Given the description of an element on the screen output the (x, y) to click on. 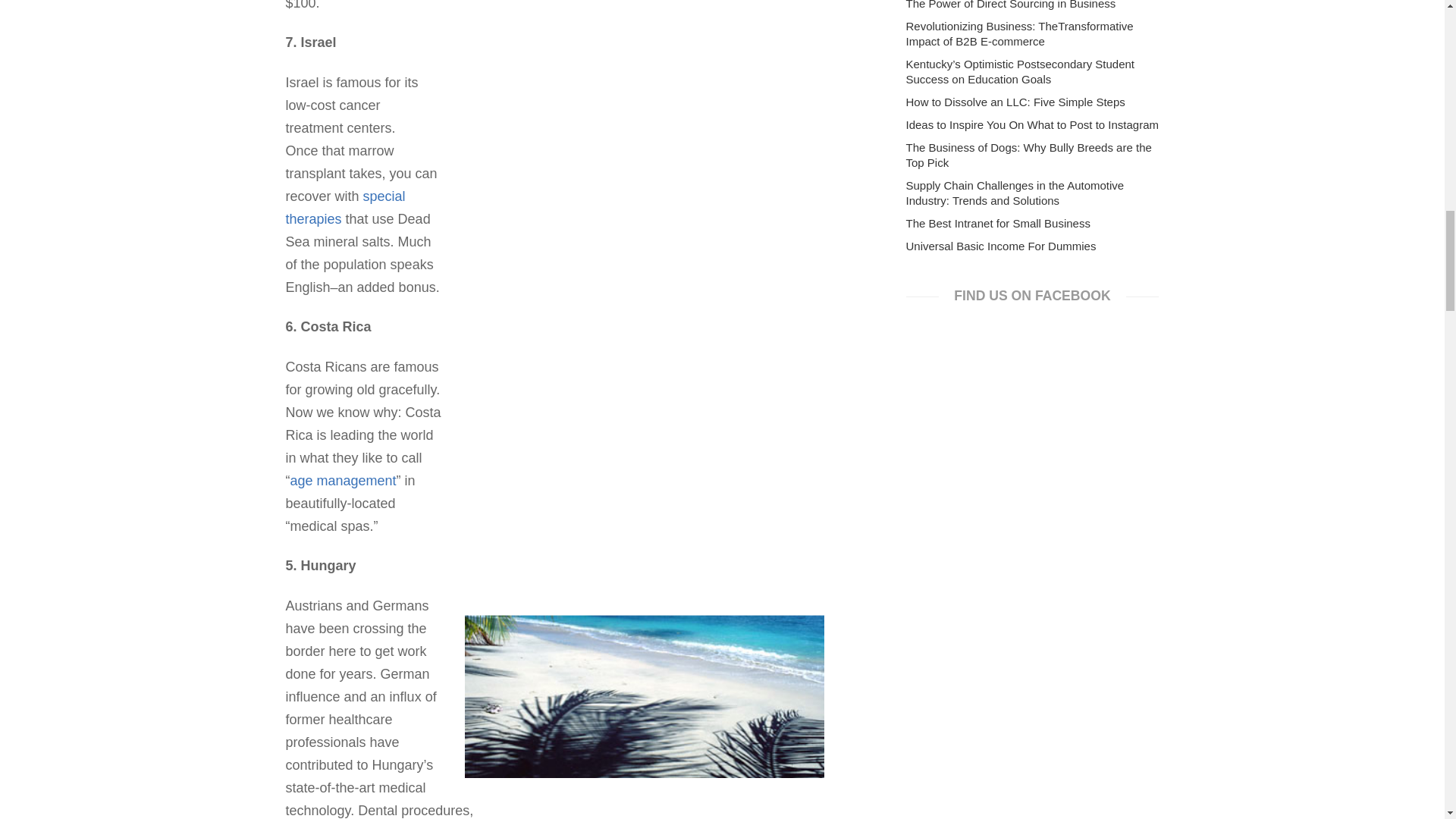
special therapies (344, 207)
age management (342, 480)
zzcastarice (644, 636)
